Given the description of an element on the screen output the (x, y) to click on. 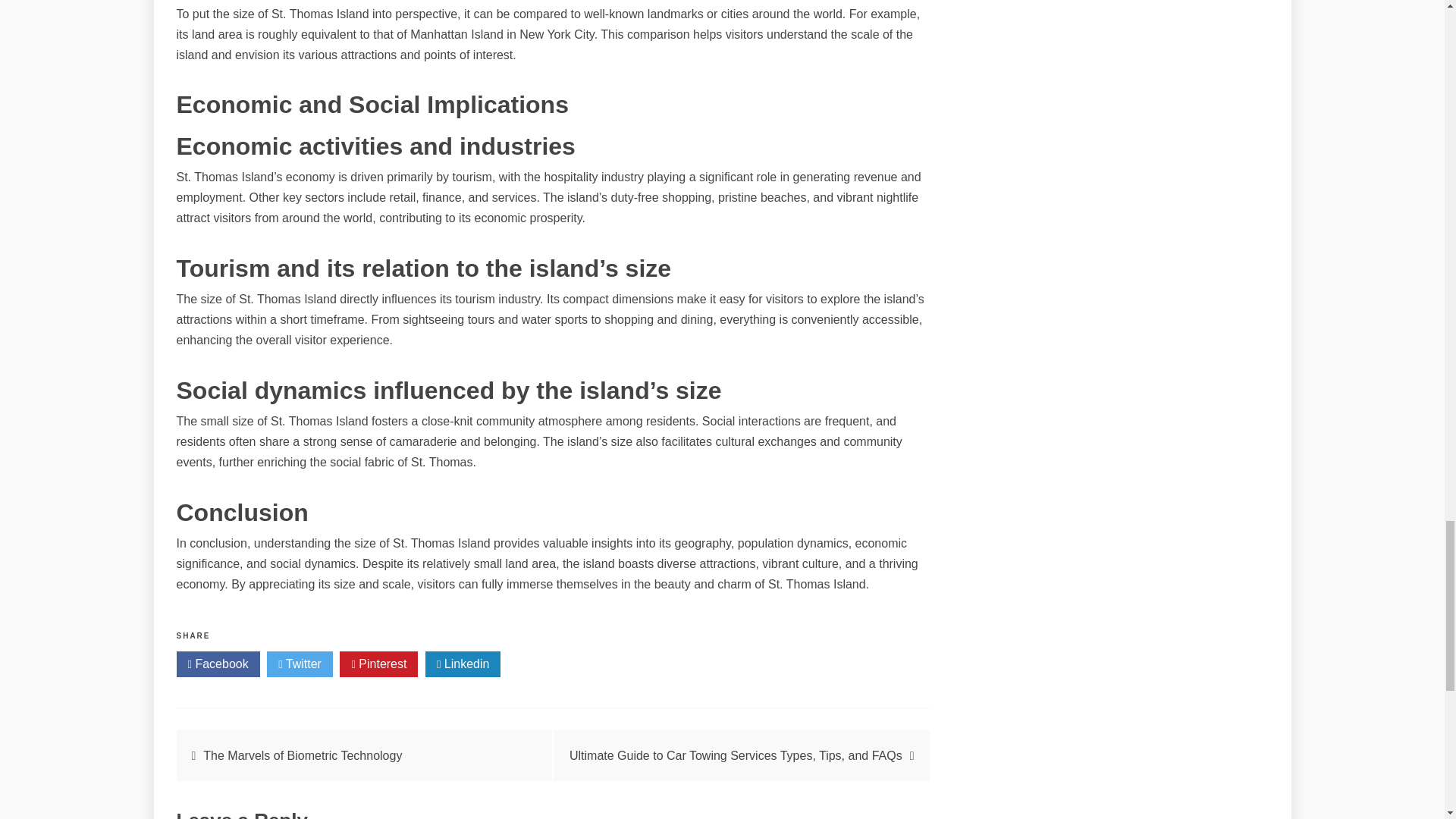
Linkedin (462, 664)
Pinterest (378, 664)
Ultimate Guide to Car Towing Services Types, Tips, and FAQs (735, 755)
Twitter (299, 664)
Facebook (217, 664)
The Marvels of Biometric Technology (302, 755)
